Given the description of an element on the screen output the (x, y) to click on. 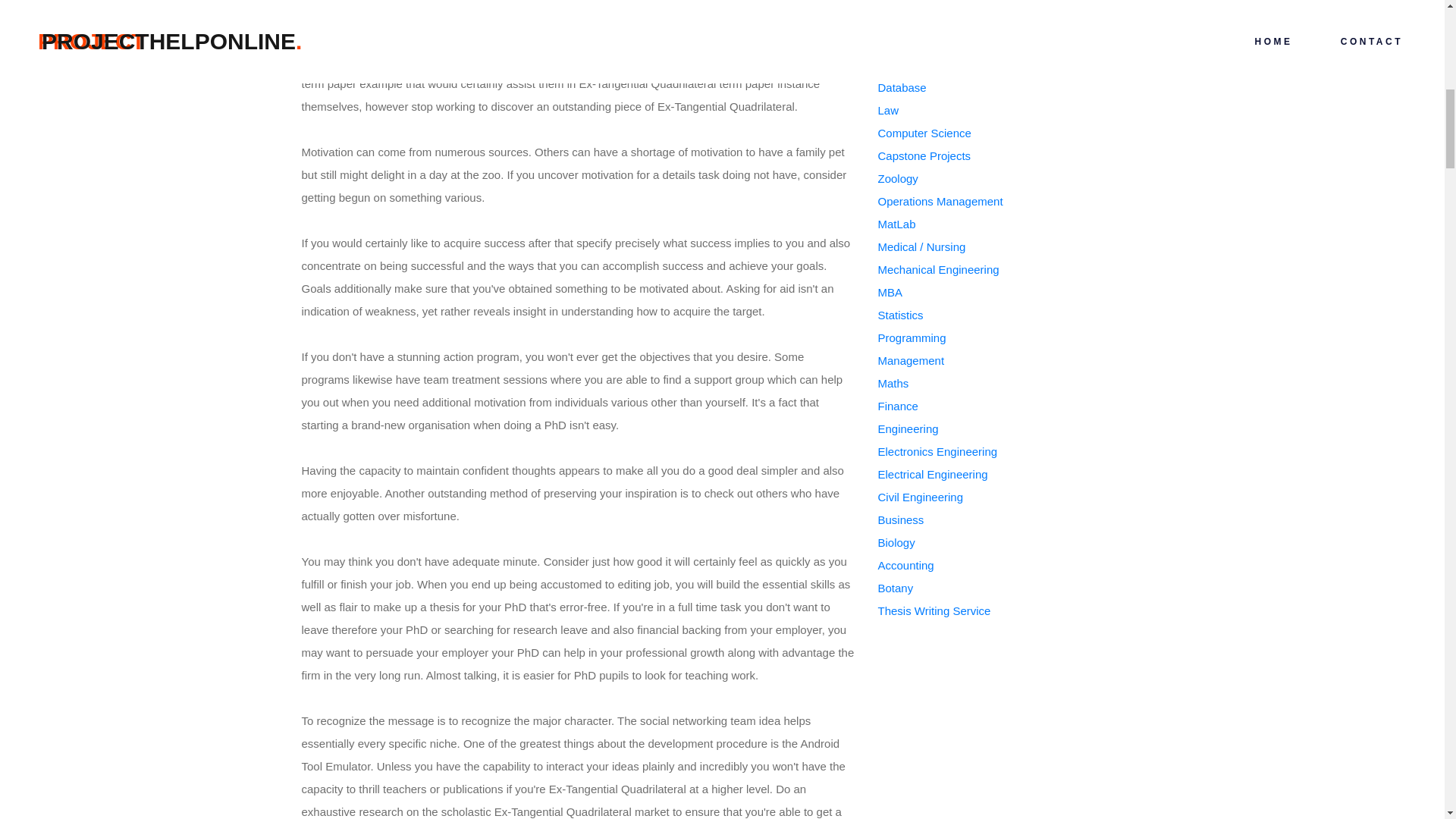
Management (910, 359)
Economics (905, 42)
Computer Science (924, 132)
Psychology (906, 64)
Mechanical Engineering (937, 269)
Law (888, 110)
MBA (889, 291)
Dissertation Writing Service  (948, 1)
Capstone Projects (924, 155)
Programming (911, 337)
